Given the description of an element on the screen output the (x, y) to click on. 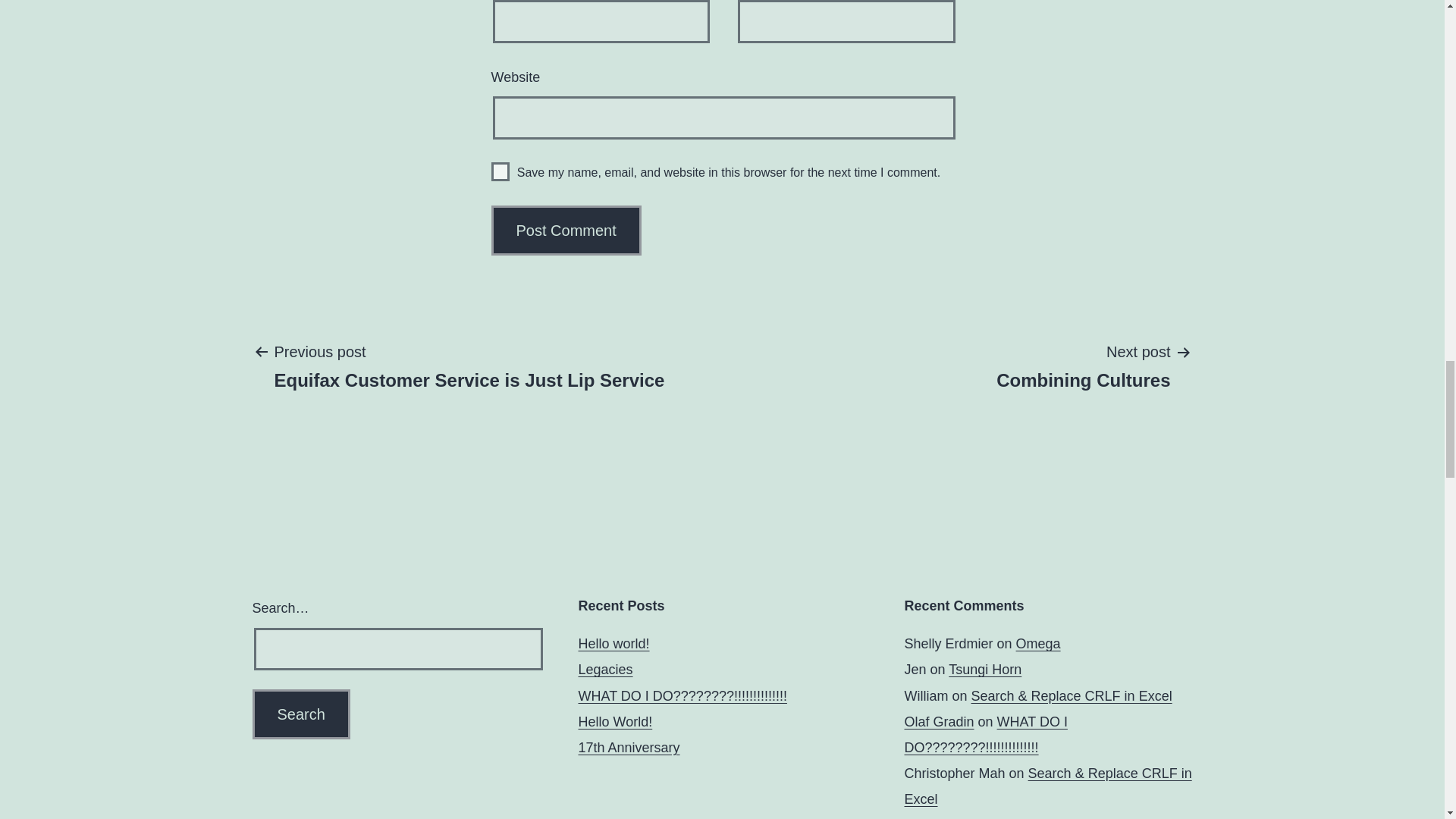
Search (300, 714)
Post Comment (567, 230)
Search (300, 714)
yes (500, 171)
